Given the description of an element on the screen output the (x, y) to click on. 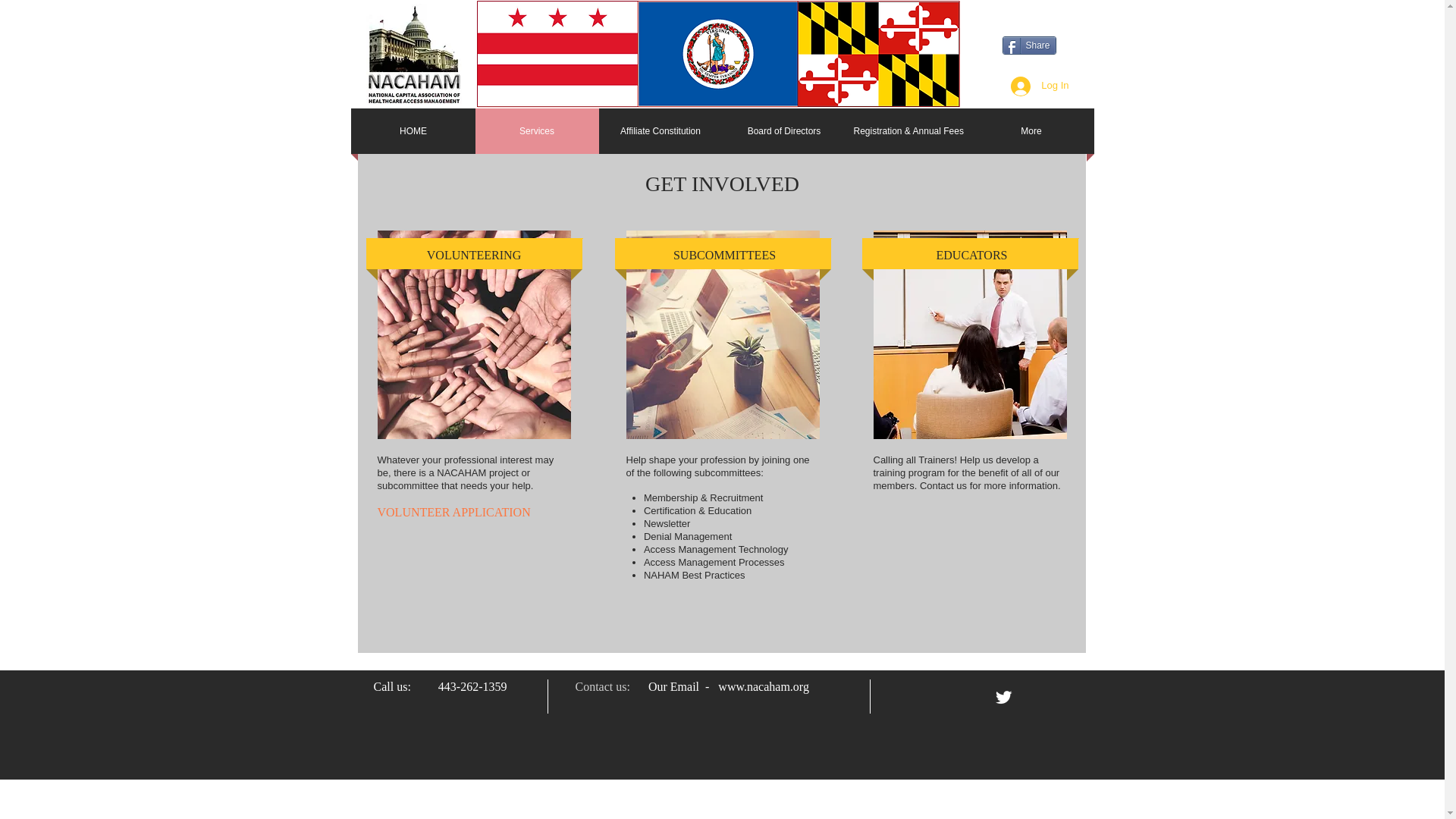
Services (536, 130)
www.nacaham.org (763, 686)
Affiliate Constitution (660, 130)
Share (1030, 45)
Log In (1039, 85)
Board of Directors (783, 130)
Share (1030, 45)
HOME (414, 130)
Twitter Follow (1034, 20)
